Given the description of an element on the screen output the (x, y) to click on. 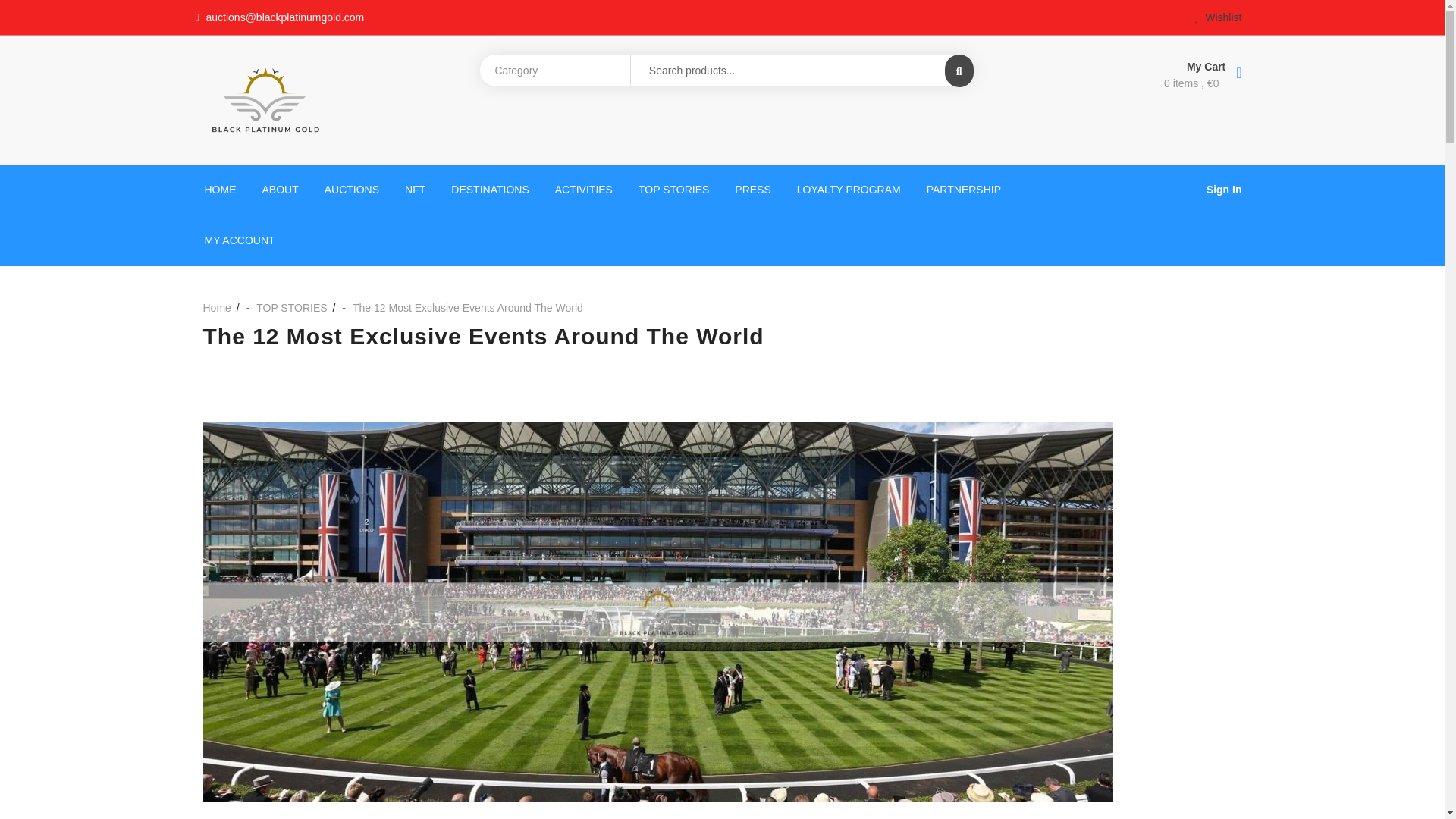
HOME (219, 189)
ABOUT (279, 189)
Wishlist (1218, 17)
My Cart (1112, 65)
View your shopping cart (1112, 83)
Log in (442, 514)
NFT (414, 189)
AUCTIONS (351, 189)
Register (780, 521)
DESTINATIONS (489, 189)
